Given the description of an element on the screen output the (x, y) to click on. 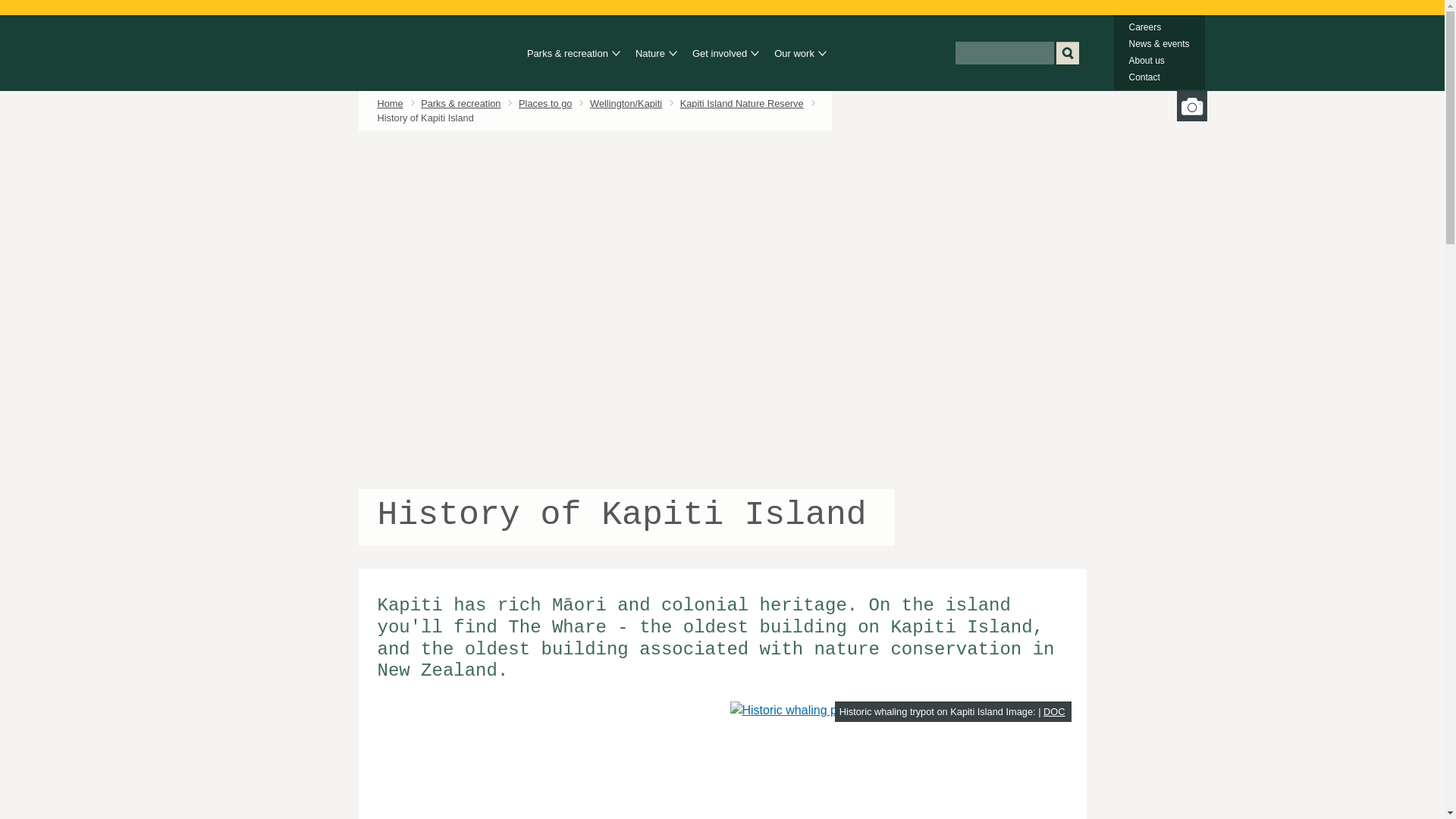
Search (1066, 52)
Search (1066, 52)
Nature (651, 53)
Search (1066, 52)
Get involved (722, 53)
Historic whaling pot on Kapiti Island. (832, 710)
